Given the description of an element on the screen output the (x, y) to click on. 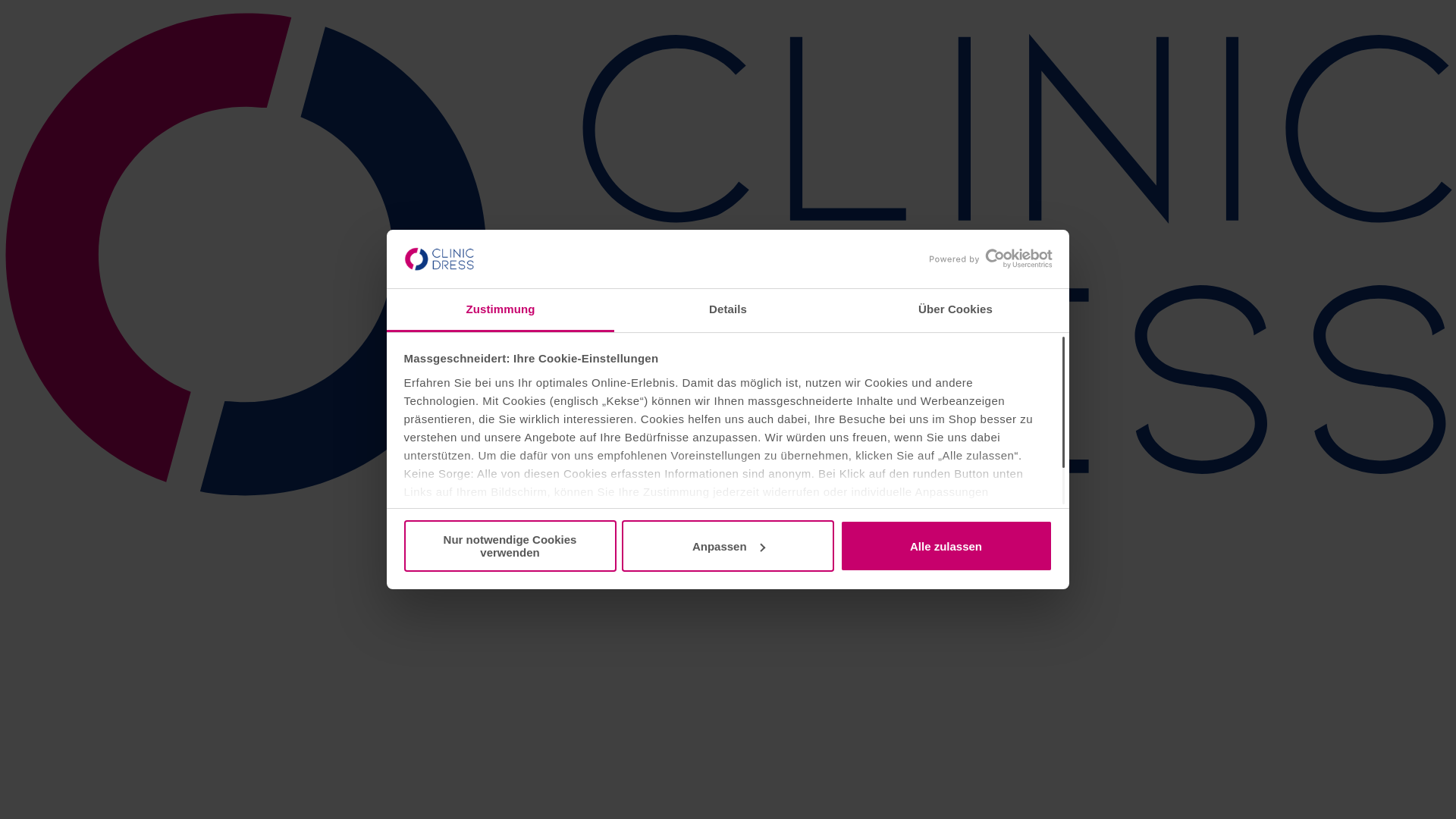
Anpassen Element type: text (727, 545)
Nur notwendige Cookies verwenden Element type: text (509, 545)
Impressum Element type: text (743, 527)
Zustimmung Element type: text (500, 310)
Alle zulassen Element type: text (946, 545)
Details Element type: text (727, 310)
